Given the description of an element on the screen output the (x, y) to click on. 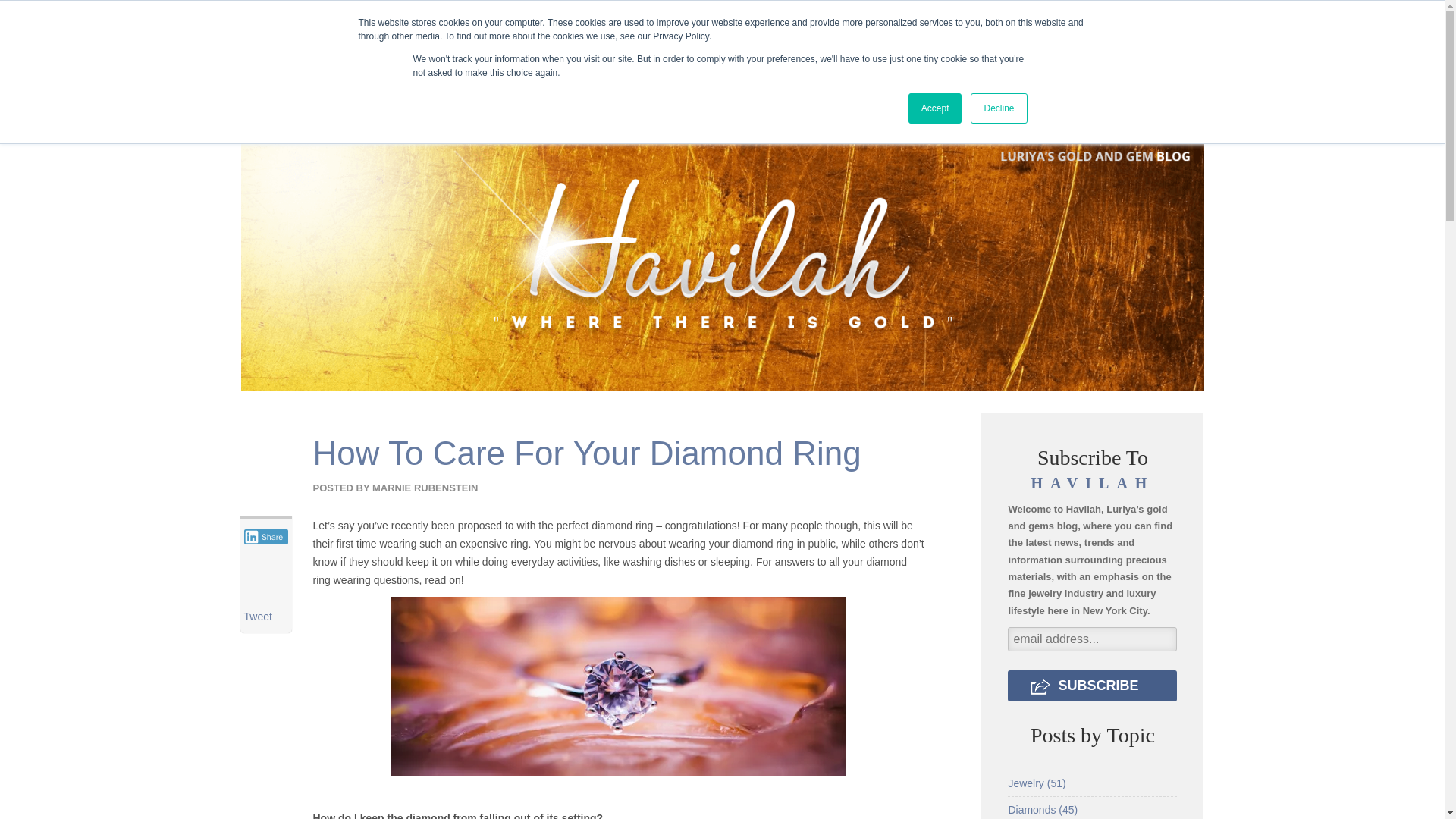
Decline (998, 108)
MAIL IN KIT (963, 19)
Accept (935, 108)
212-256-0025 (508, 19)
Subscribe (1091, 685)
luriya (341, 19)
WHAT WE BUY (619, 59)
ABOUT US (453, 59)
EMAIL US (607, 19)
APPRAISAL (704, 19)
SCHEDULE A MEETING (834, 19)
